Given the description of an element on the screen output the (x, y) to click on. 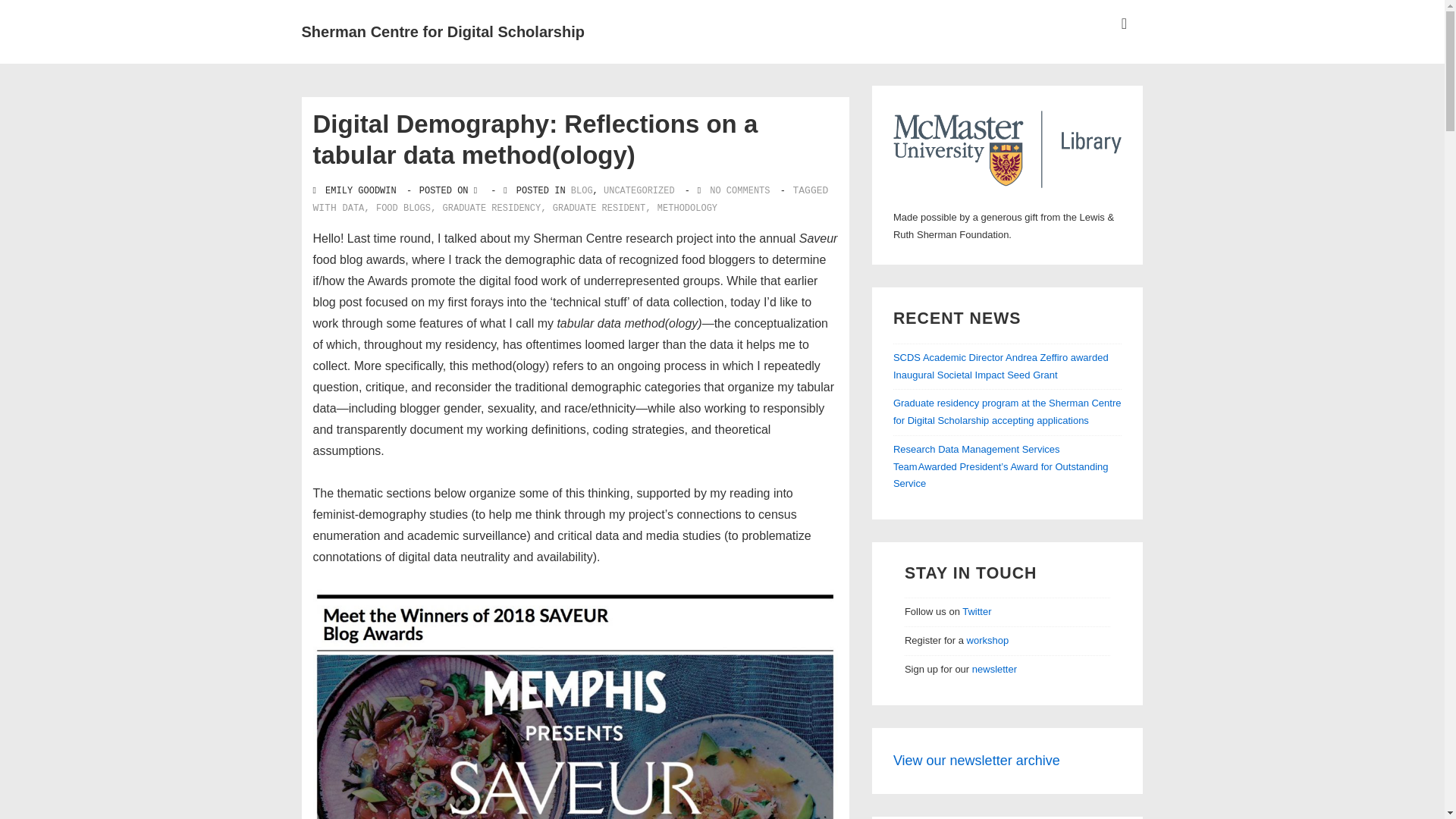
Sherman Centre for Digital Scholarship (443, 31)
MENU (1123, 23)
View all posts by Emily Goodwin (357, 190)
